Given the description of an element on the screen output the (x, y) to click on. 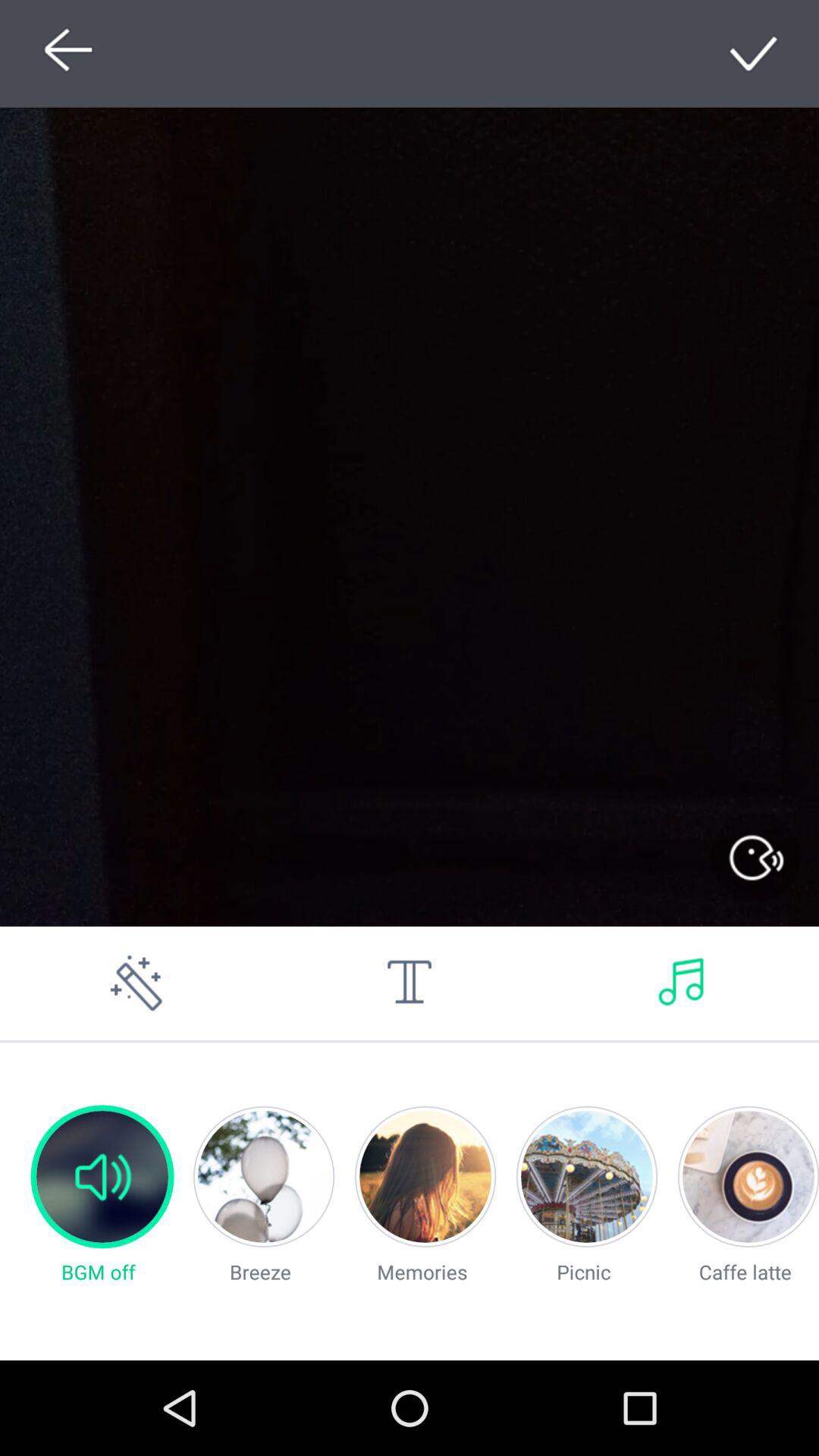
go to previous (63, 53)
